Given the description of an element on the screen output the (x, y) to click on. 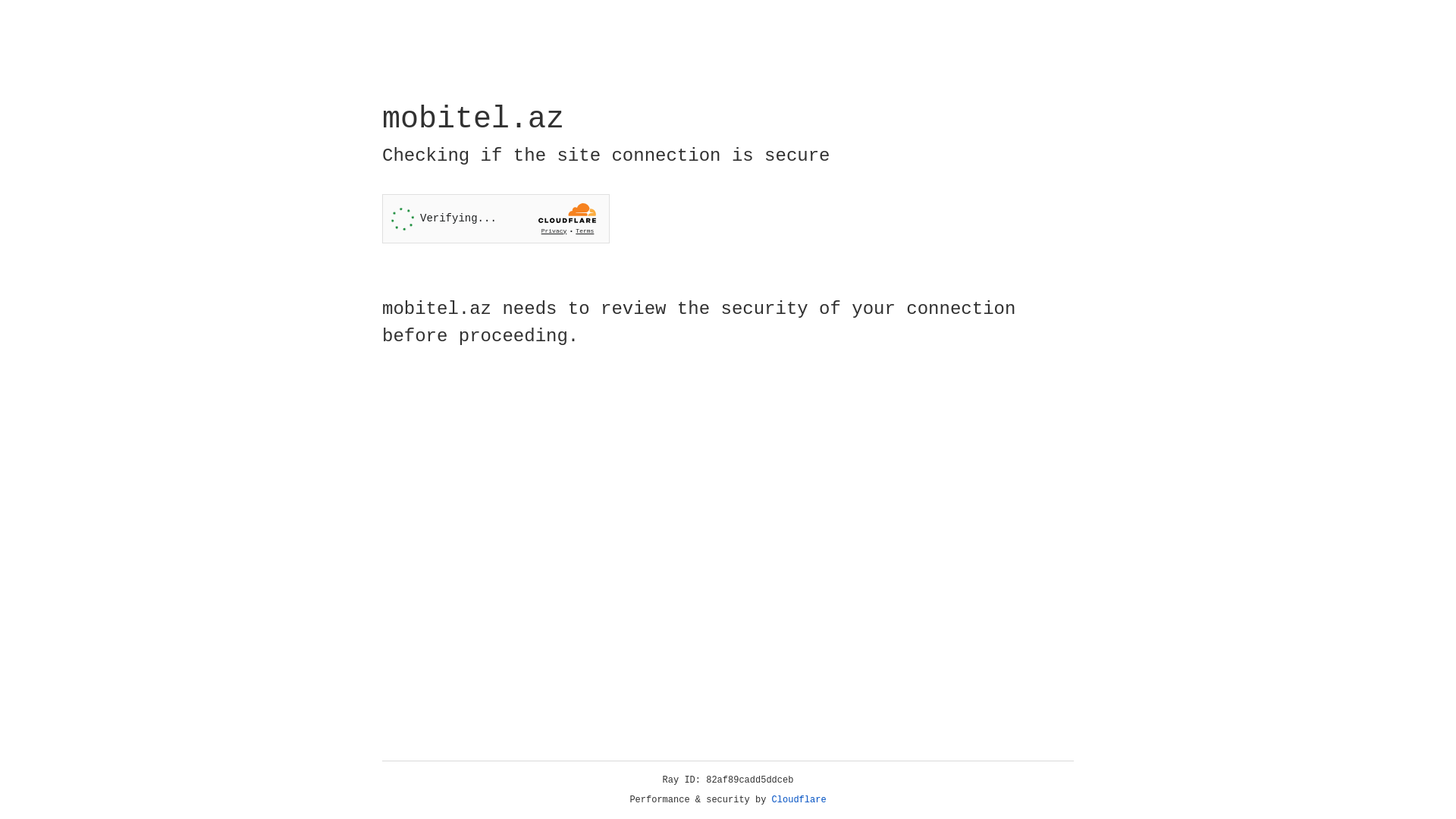
Cloudflare Element type: text (798, 799)
Widget containing a Cloudflare security challenge Element type: hover (495, 218)
